Given the description of an element on the screen output the (x, y) to click on. 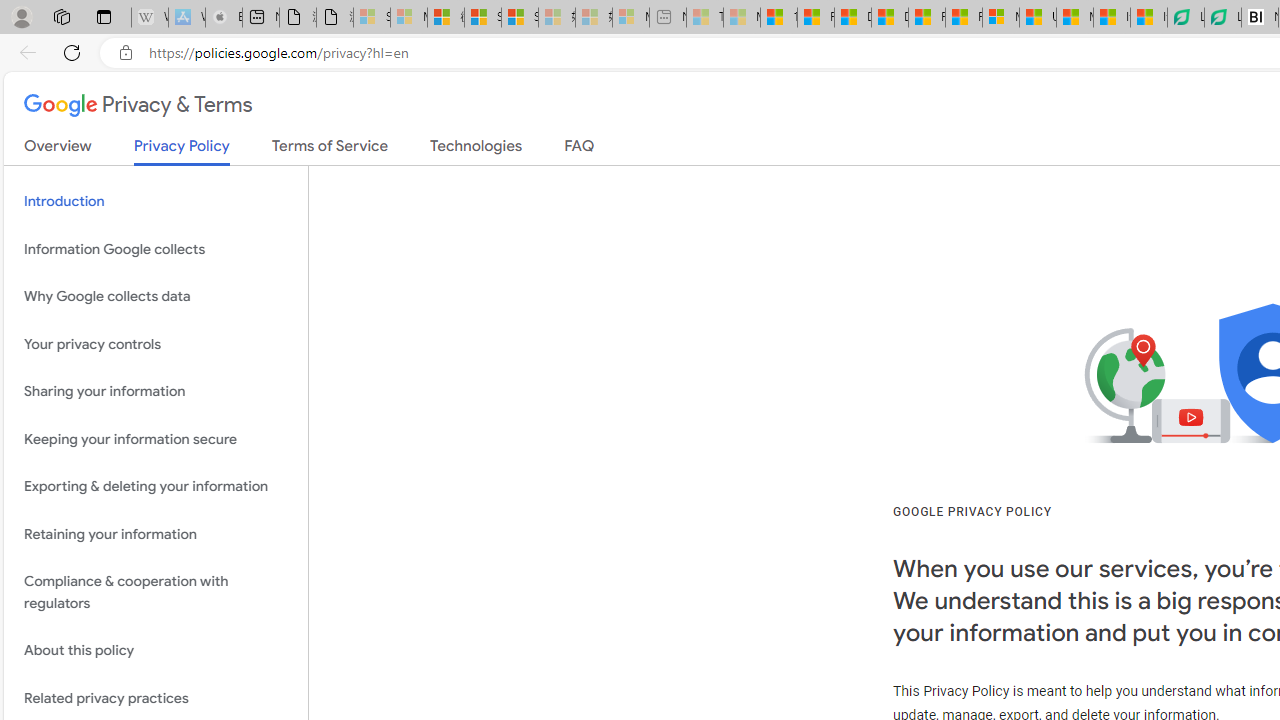
Microsoft Services Agreement - Sleeping (408, 17)
Top Stories - MSN - Sleeping (705, 17)
Retaining your information (155, 533)
Your privacy controls (155, 343)
Marine life - MSN - Sleeping (742, 17)
Sign in to your Microsoft account - Sleeping (372, 17)
Compliance & cooperation with regulators (155, 592)
